Given the description of an element on the screen output the (x, y) to click on. 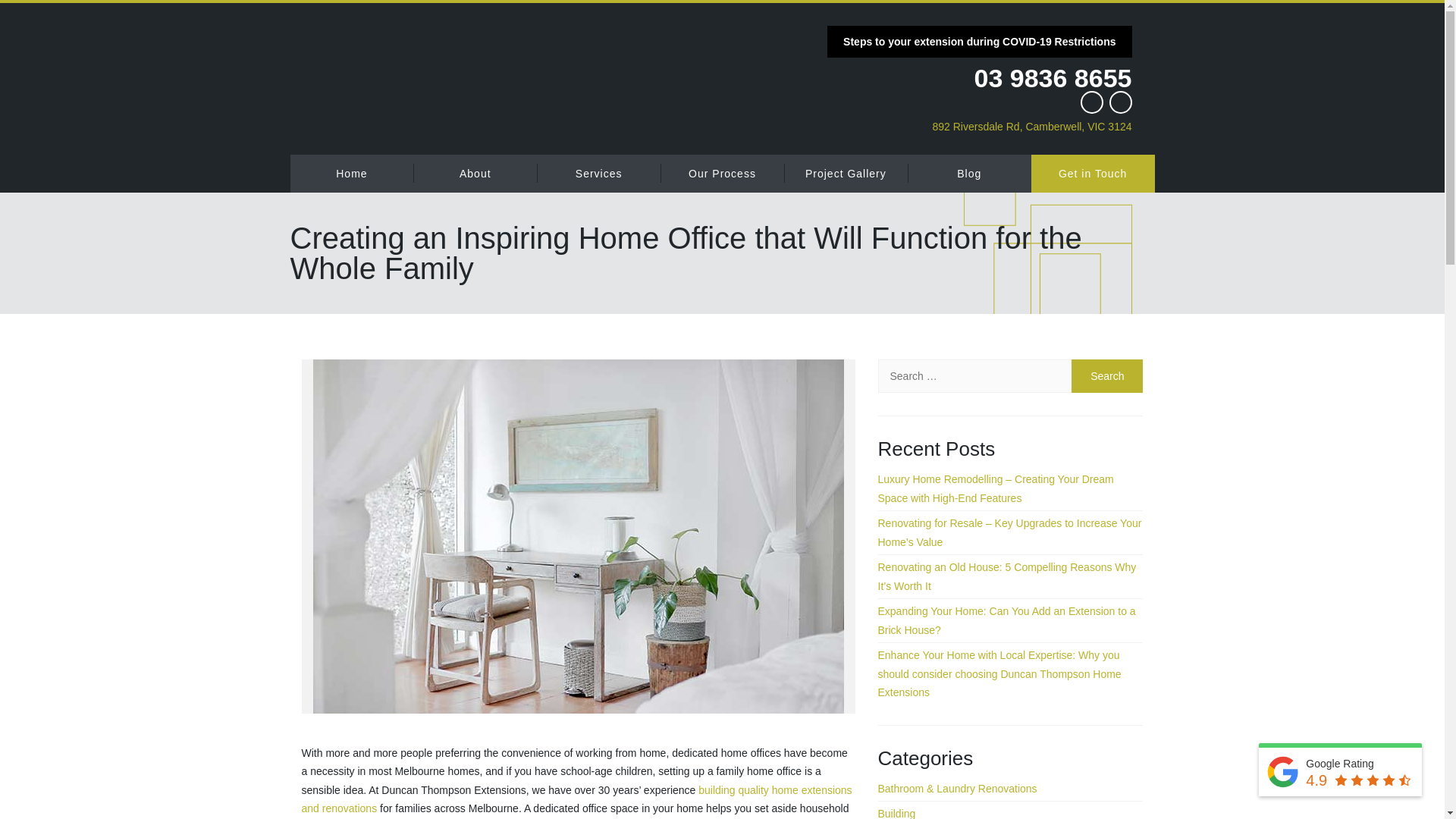
building quality home extensions and renovations (576, 798)
892 Riversdale Rd, Camberwell, VIC 3124 (979, 126)
Building (896, 813)
03 9836 8655 (979, 77)
Our Process (722, 173)
About (475, 173)
Blog (968, 173)
Services (599, 173)
Home (351, 173)
